Given the description of an element on the screen output the (x, y) to click on. 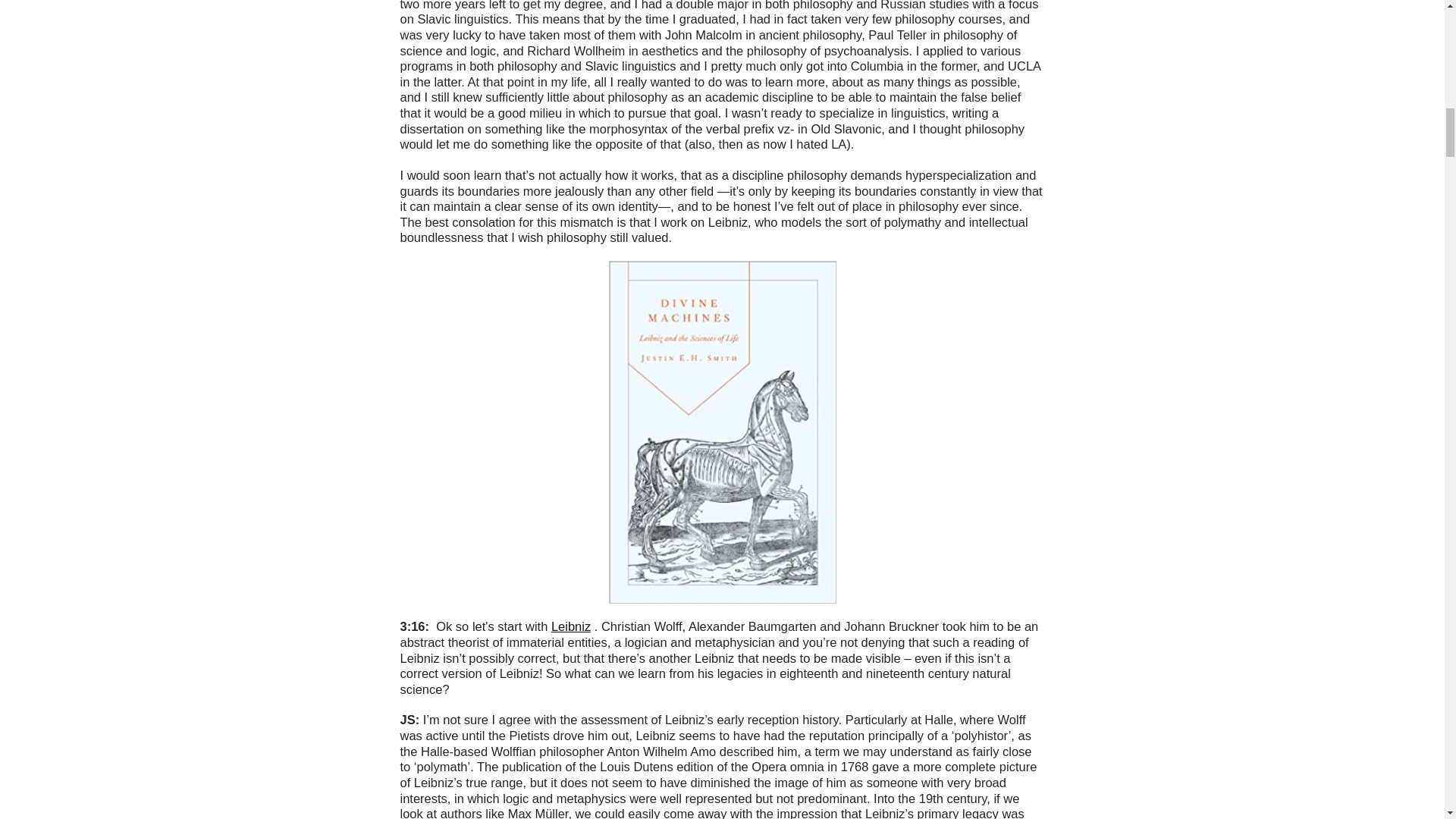
Leibniz (571, 626)
